Given the description of an element on the screen output the (x, y) to click on. 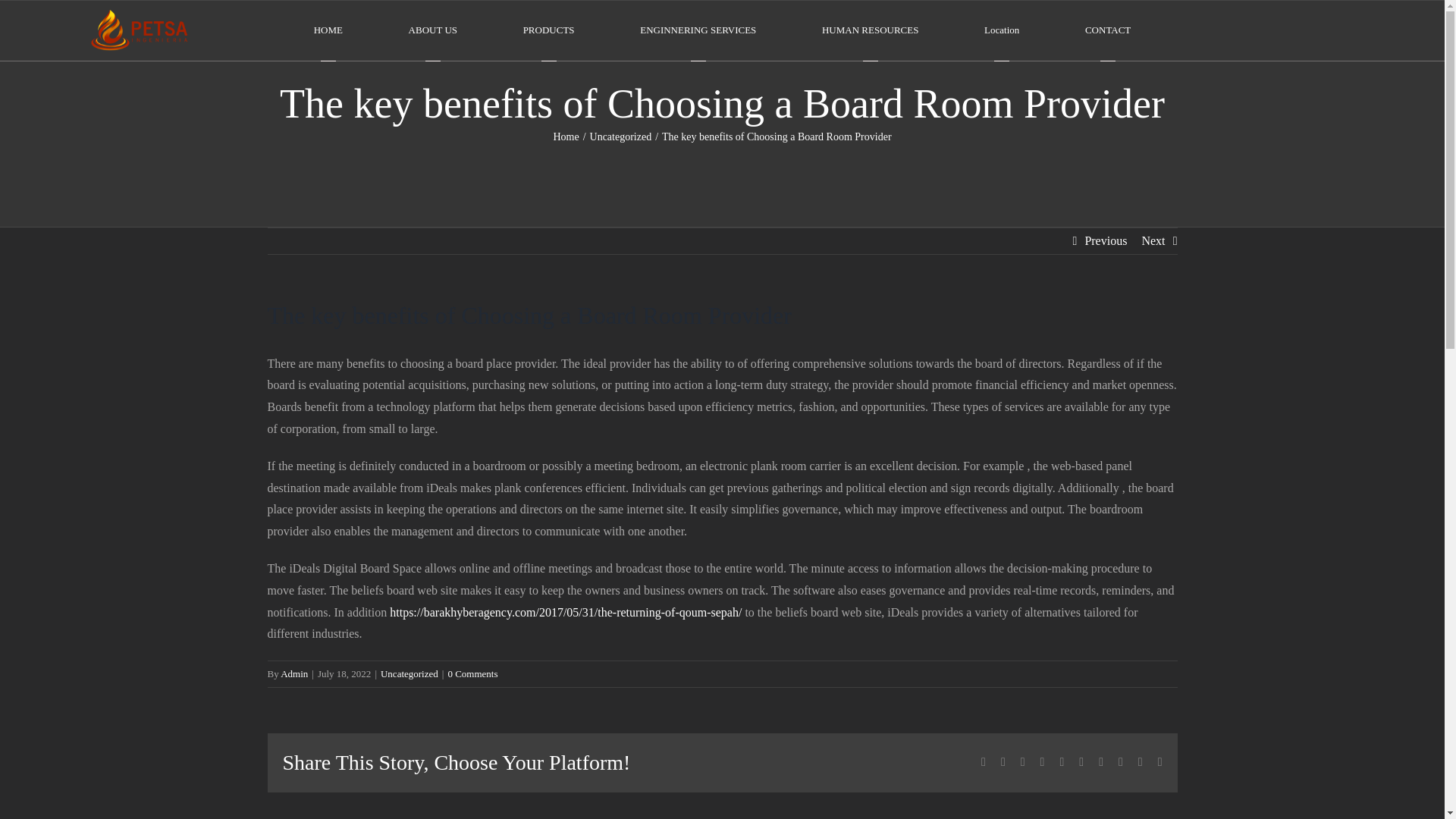
ENGINNERING SERVICES (697, 30)
HUMAN RESOURCES (870, 30)
Admin (294, 673)
Uncategorized (409, 673)
LOGO FIRMA Largo (139, 29)
Posts by Admin (294, 673)
0 Comments (471, 673)
Home (565, 136)
Previous (1105, 240)
Next (1152, 240)
